Given the description of an element on the screen output the (x, y) to click on. 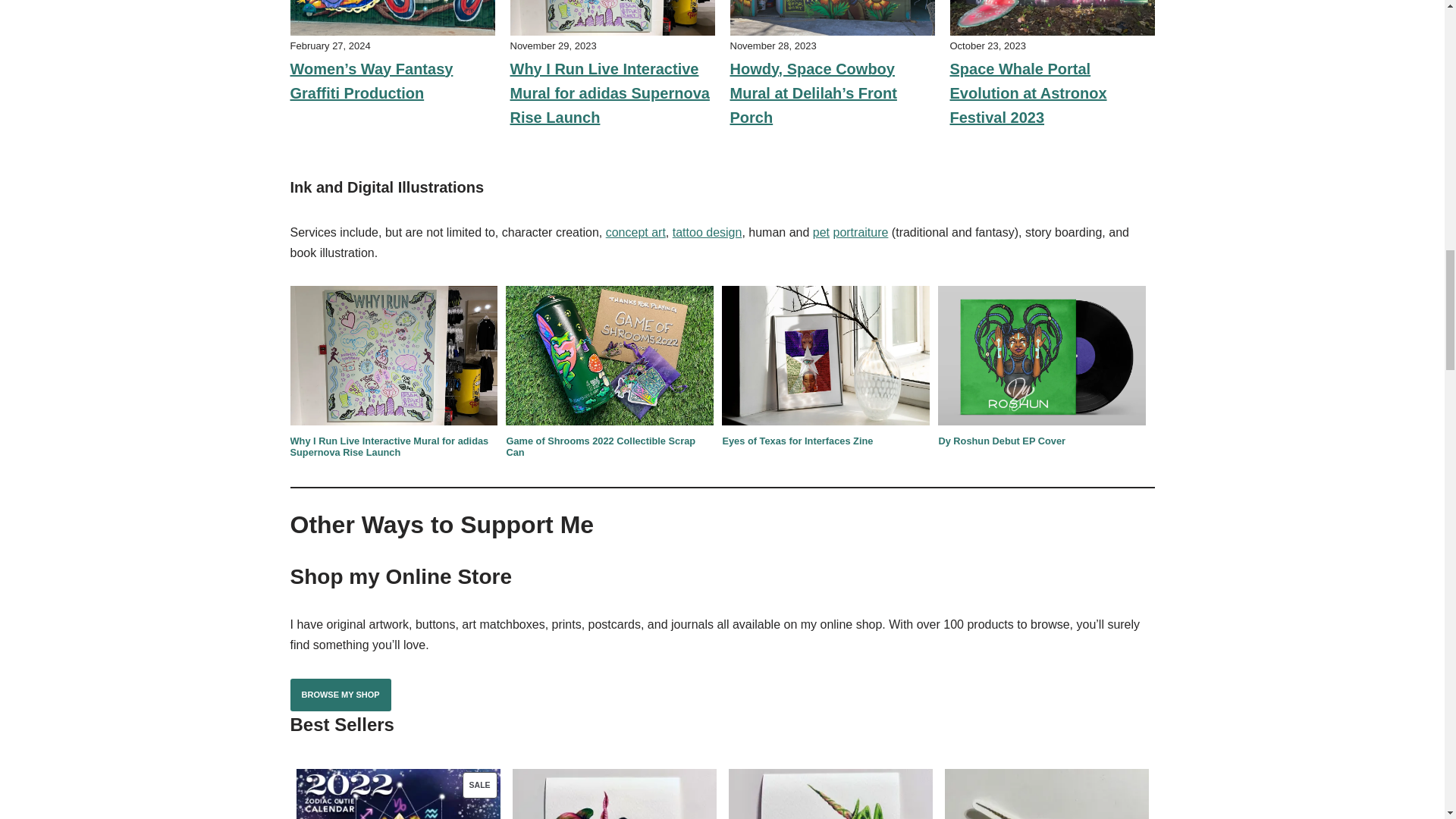
Eyes of Texas for Interfaces Zine (797, 440)
Game of Shrooms 2022 Collectible Scrap Can (600, 445)
Dy Roshun Debut EP Cover (1001, 440)
